Given the description of an element on the screen output the (x, y) to click on. 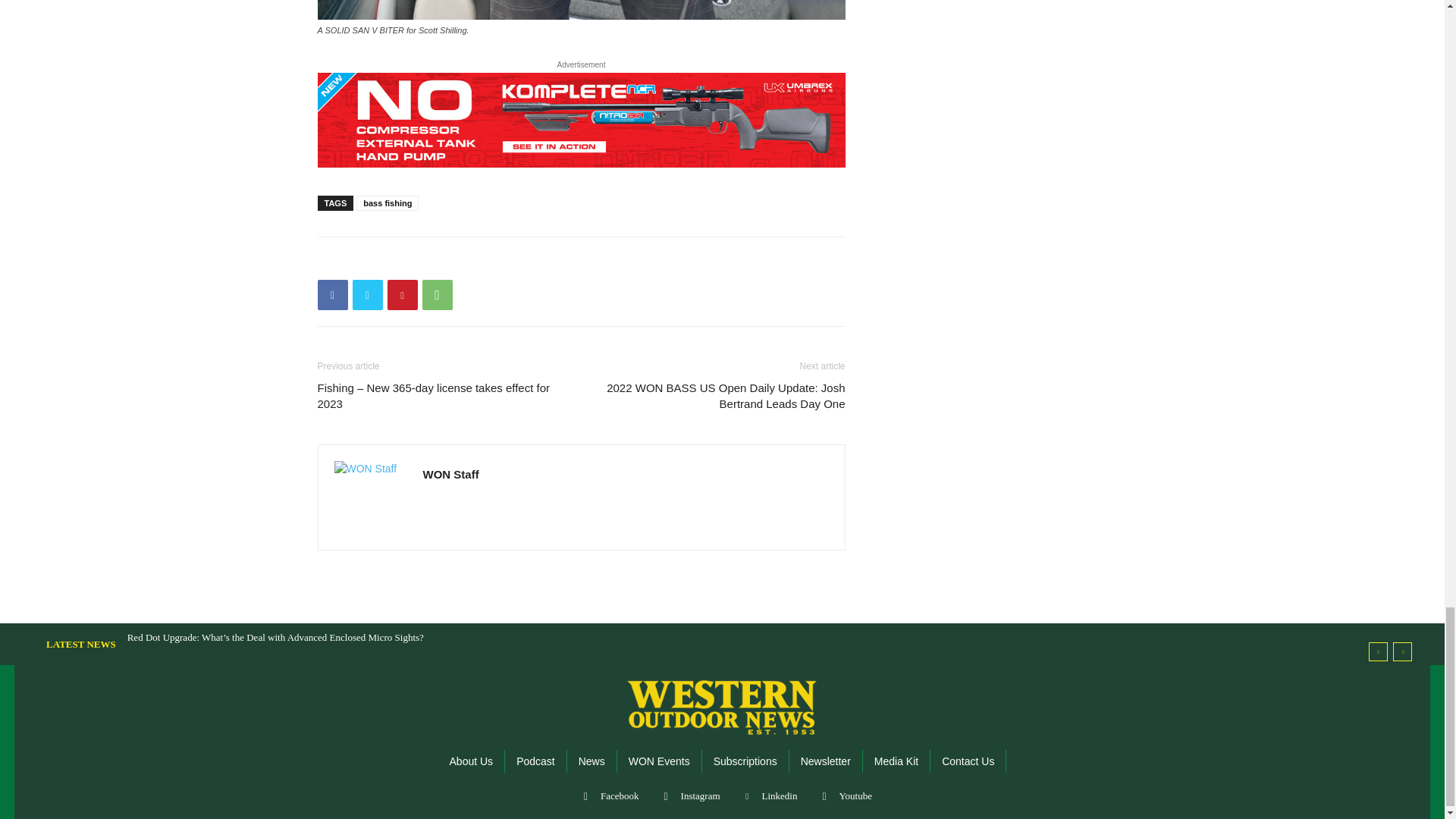
bottomFacebookLike (430, 261)
Facebook (332, 295)
